Given the description of an element on the screen output the (x, y) to click on. 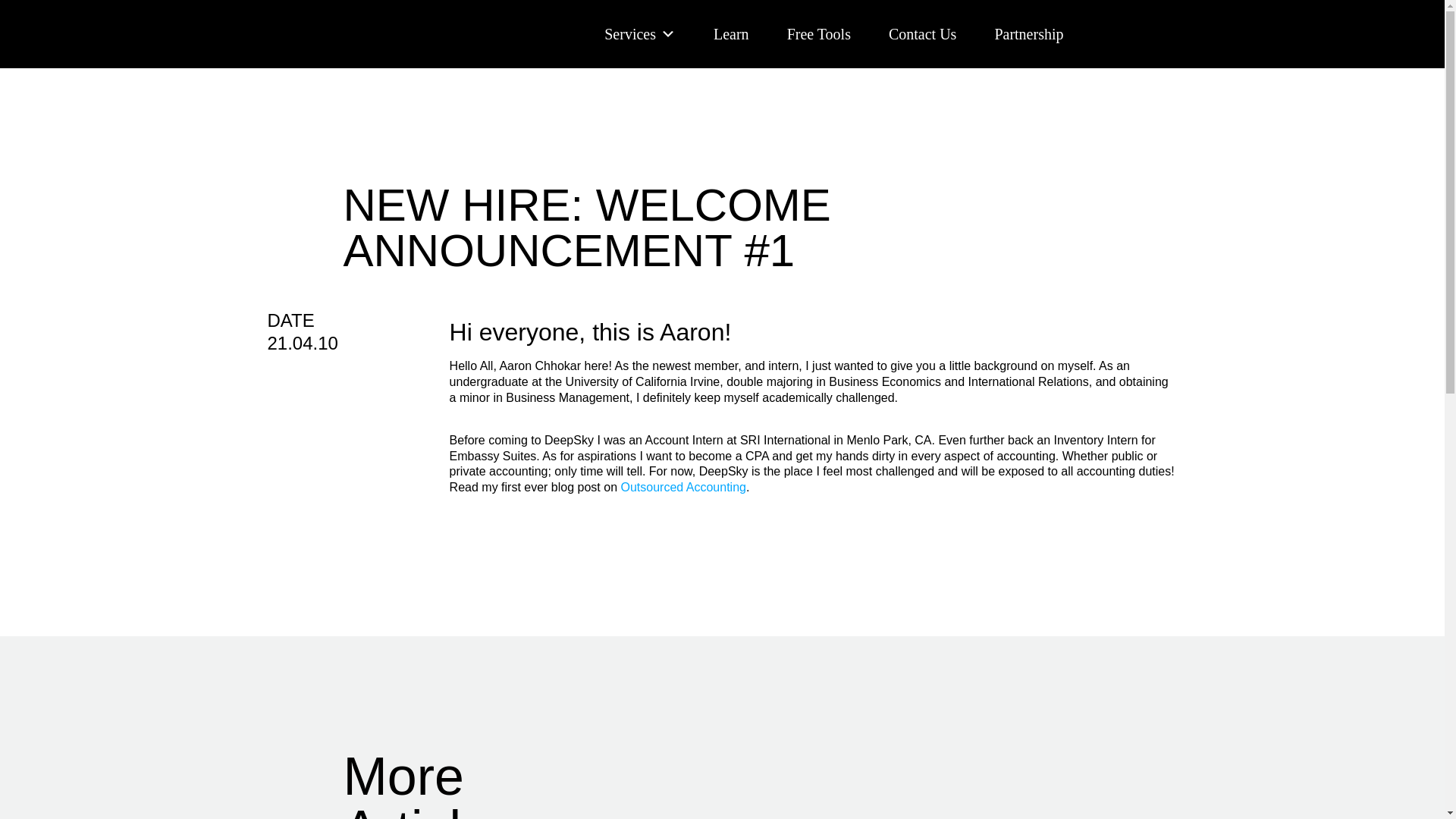
Outsourced Accounting (682, 486)
Partnership (1028, 33)
Contact Us (922, 33)
Services (639, 33)
Free Tools (818, 33)
